Given the description of an element on the screen output the (x, y) to click on. 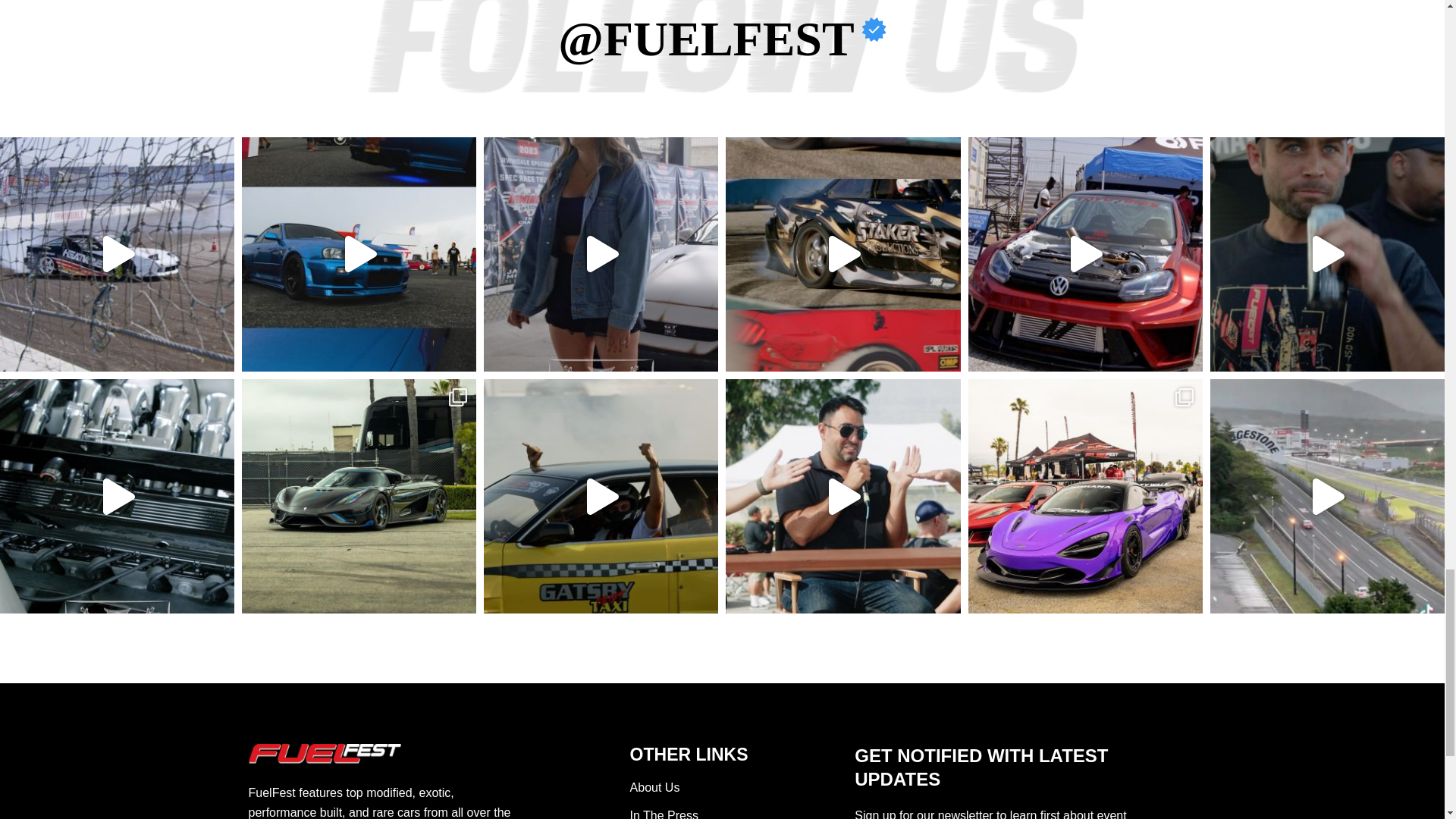
ff-footer (324, 753)
